Given the description of an element on the screen output the (x, y) to click on. 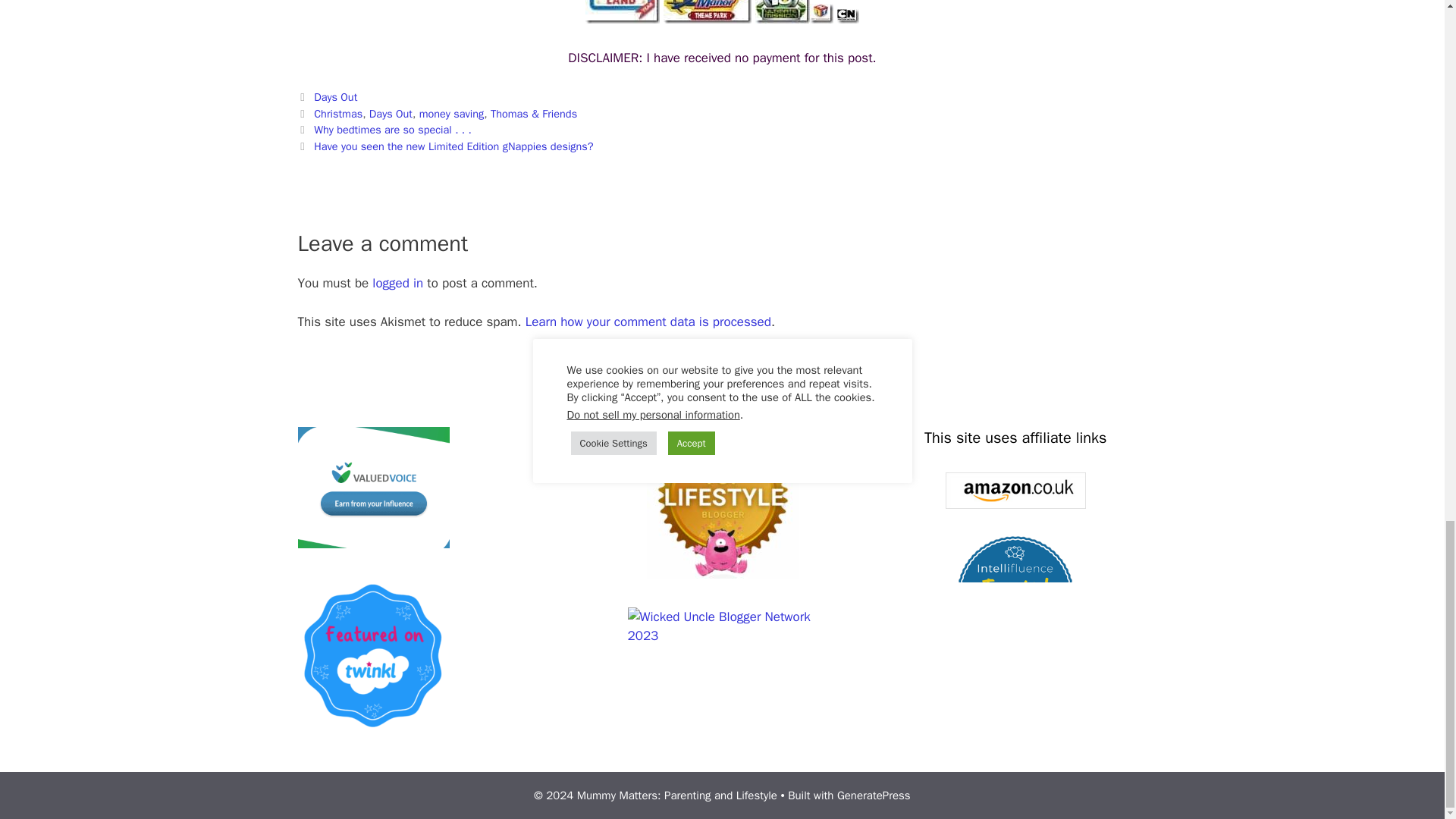
Amazon UK (1015, 489)
